Given the description of an element on the screen output the (x, y) to click on. 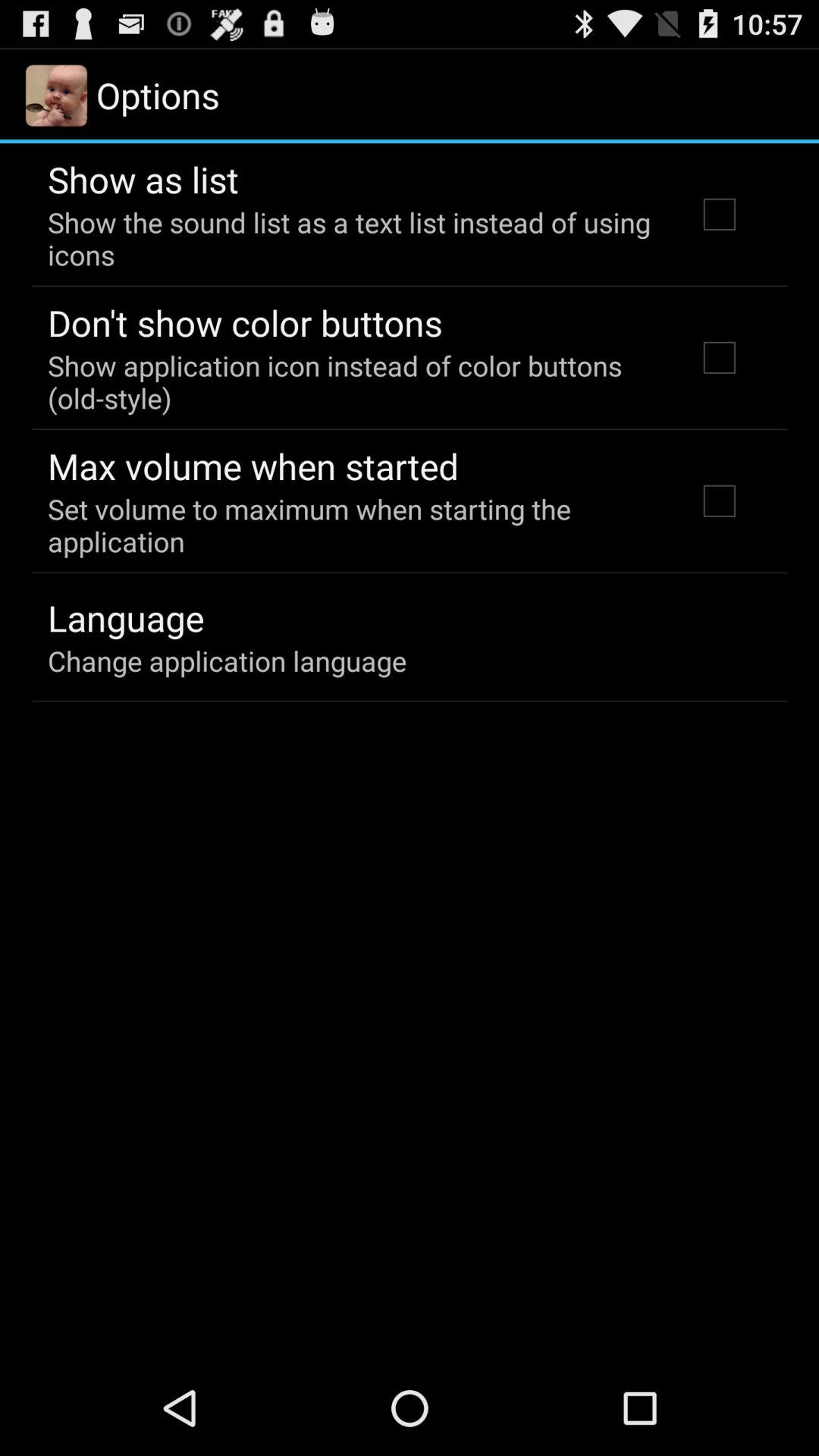
select the item below the don t show item (351, 381)
